Given the description of an element on the screen output the (x, y) to click on. 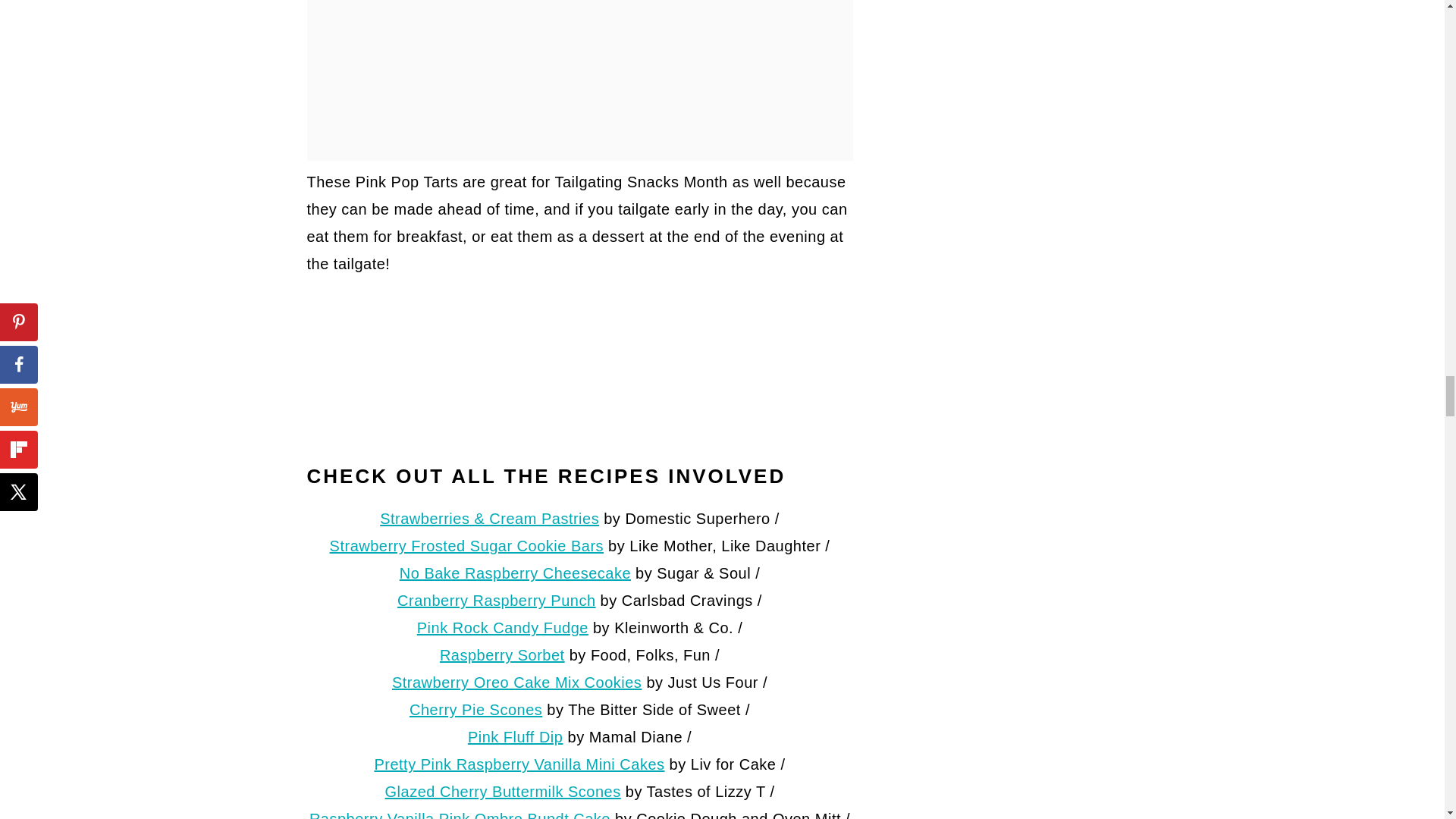
Cranberry Raspberry Punch (496, 600)
Raspberry Sorbet (501, 655)
No Bake Raspberry Cheesecake (514, 573)
Pink Rock Candy Fudge (502, 627)
Strawberry Frosted Sugar Cookie Bars (467, 545)
Strawberry Oreo Cake Mix Cookies (516, 682)
